Given the description of an element on the screen output the (x, y) to click on. 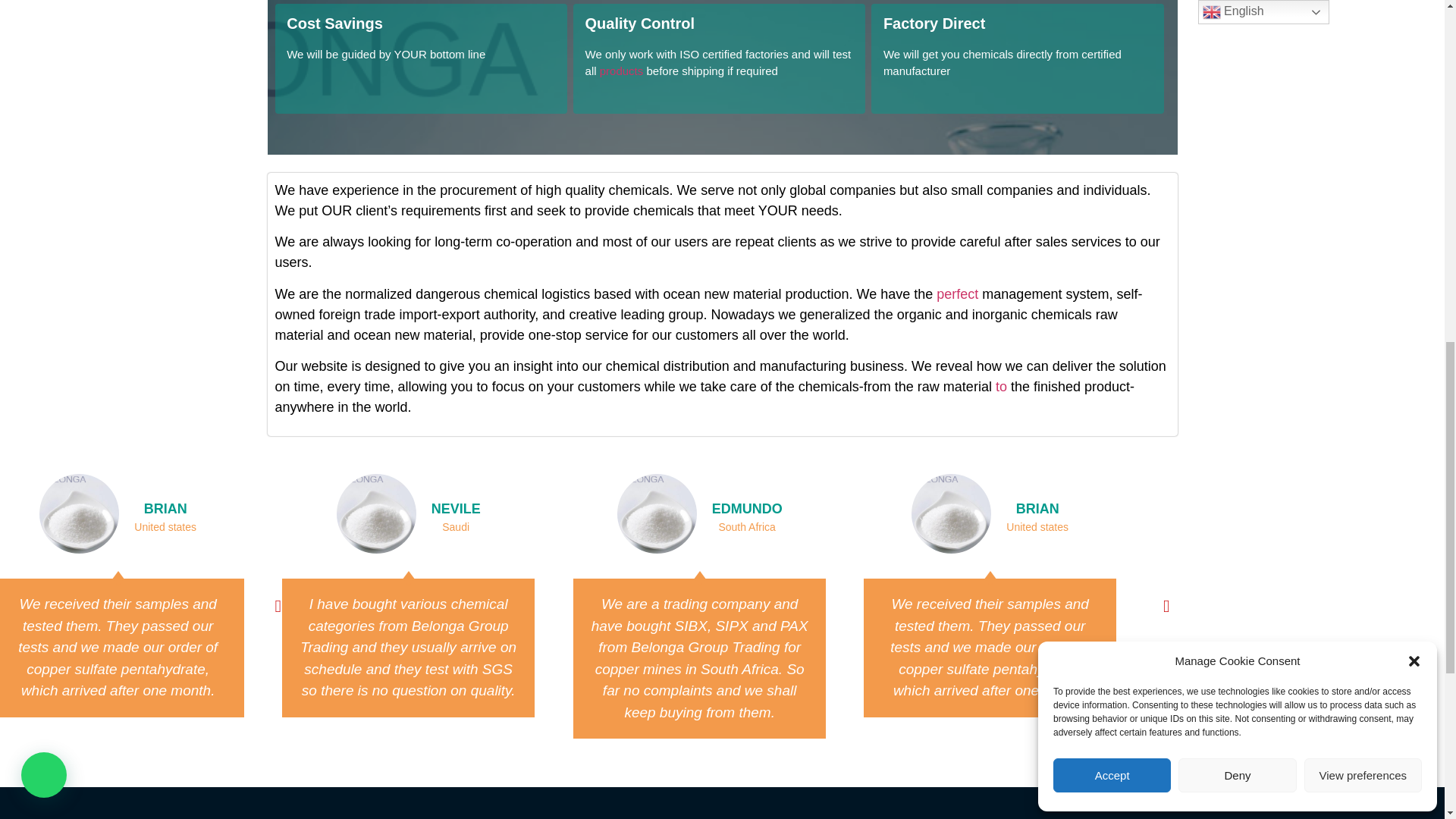
to (1001, 386)
products (621, 70)
perfect (957, 294)
